Given the description of an element on the screen output the (x, y) to click on. 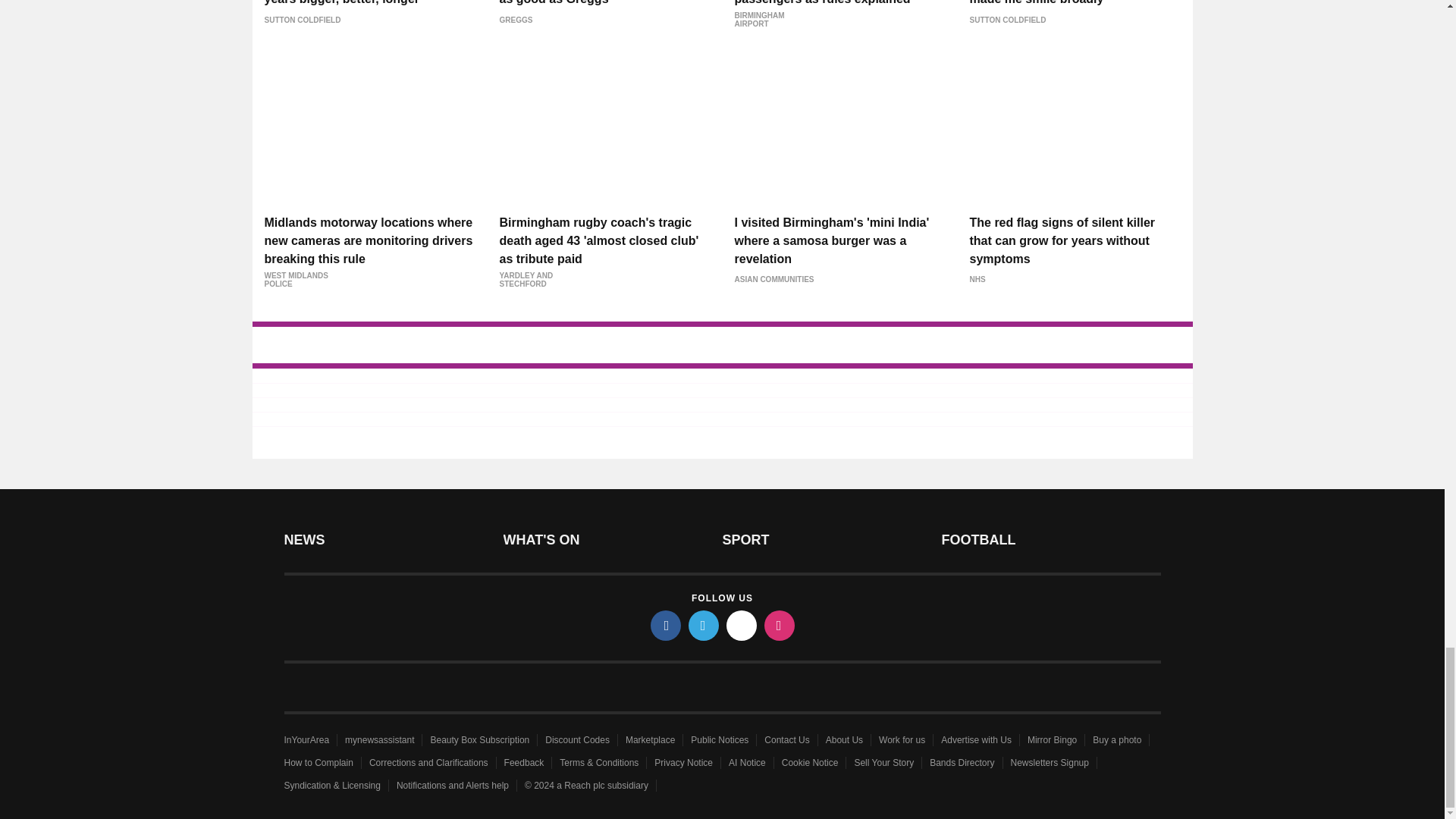
tiktok (741, 625)
facebook (665, 625)
instagram (779, 625)
twitter (703, 625)
